Given the description of an element on the screen output the (x, y) to click on. 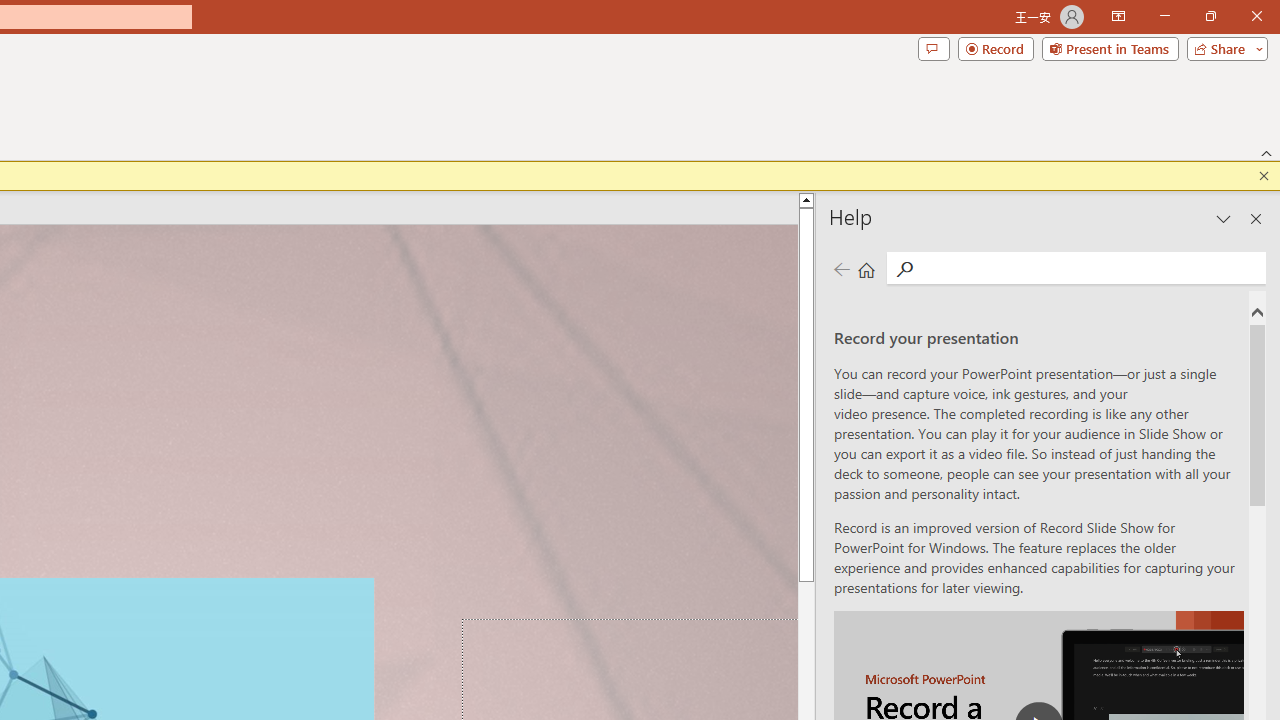
Close this message (1263, 176)
Previous page (841, 269)
